Given the description of an element on the screen output the (x, y) to click on. 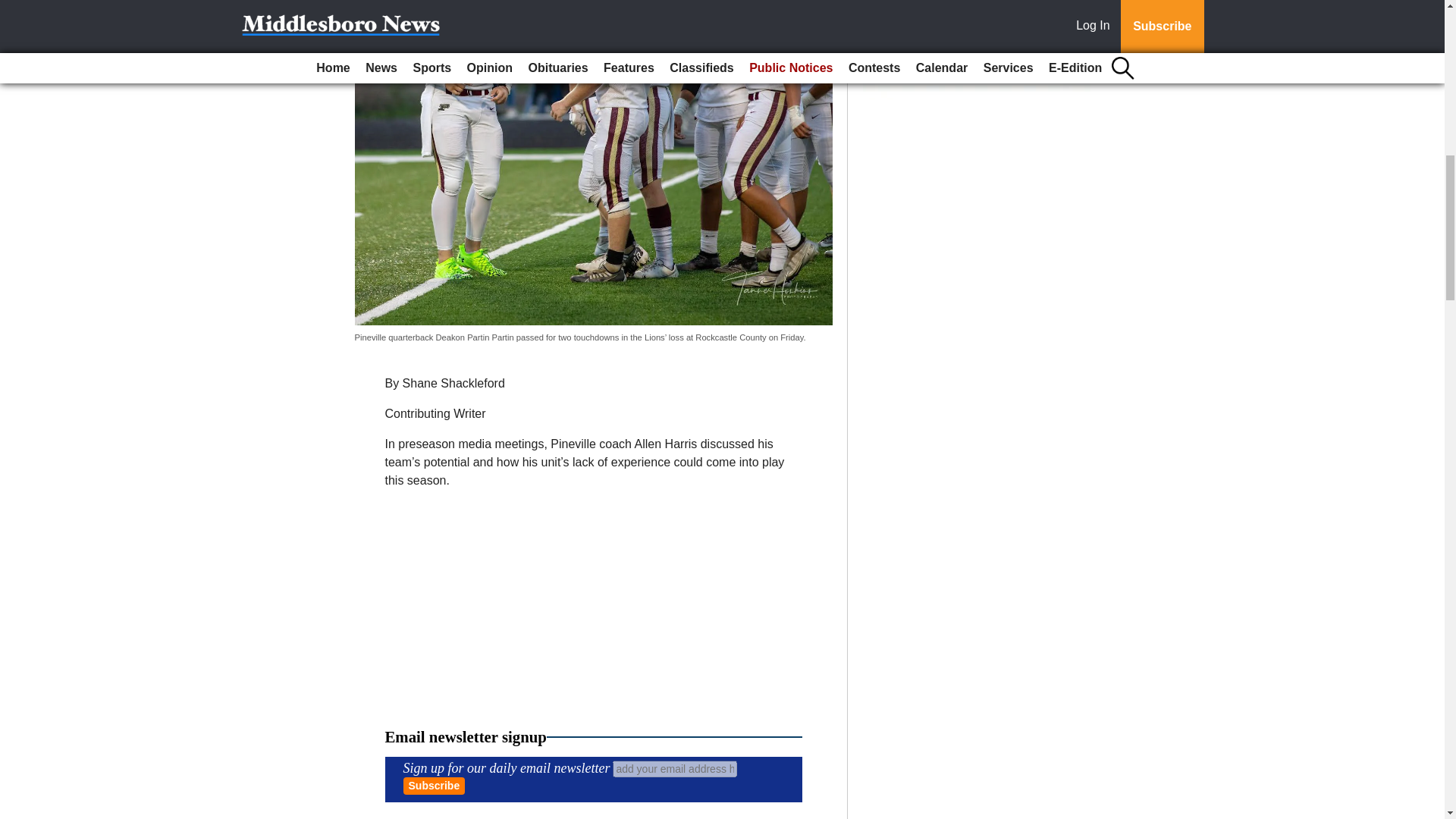
Subscribe (434, 784)
Subscribe (434, 784)
